Given the description of an element on the screen output the (x, y) to click on. 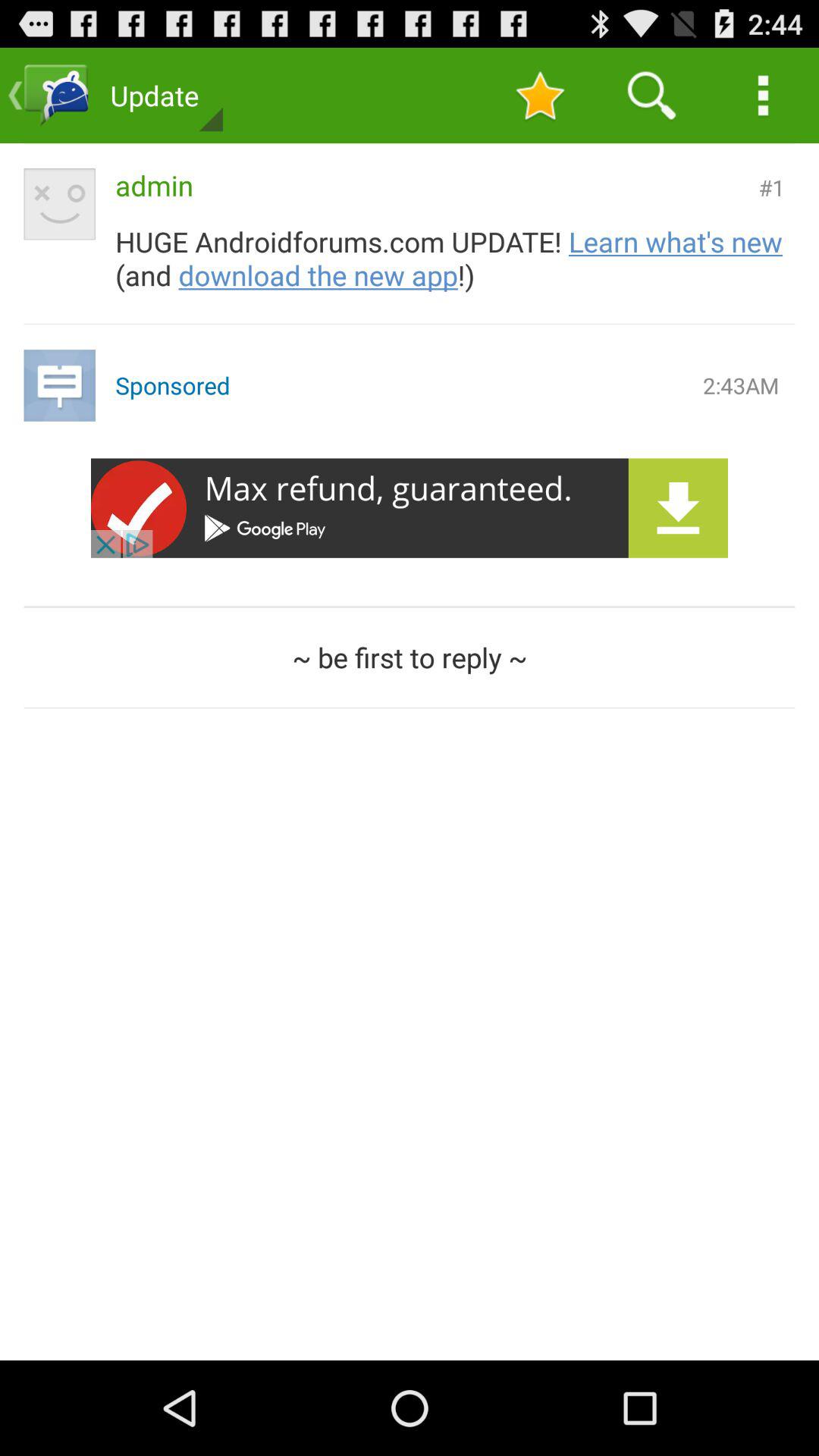
select advertisement (409, 507)
